Given the description of an element on the screen output the (x, y) to click on. 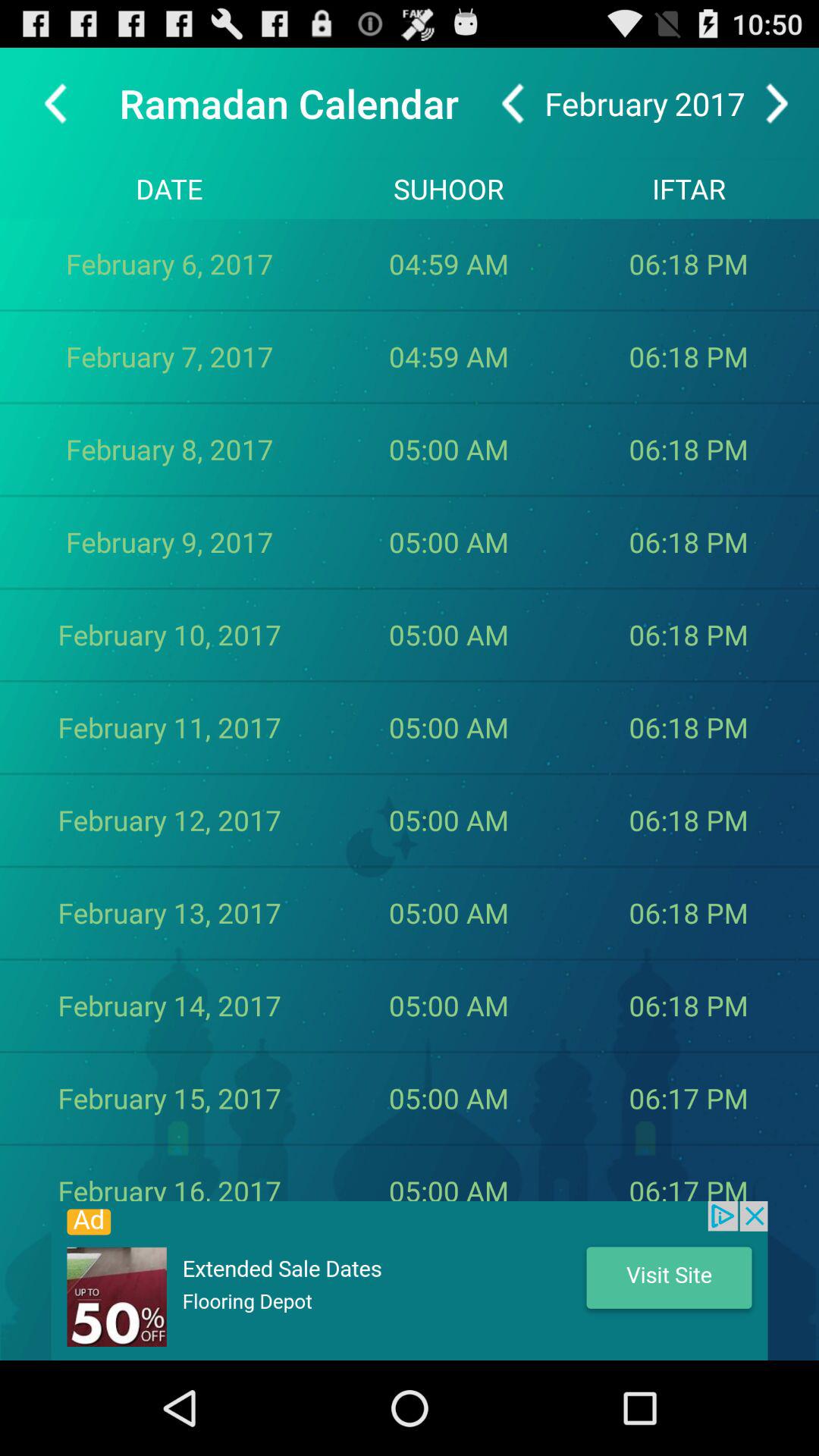
go back (512, 103)
